Given the description of an element on the screen output the (x, y) to click on. 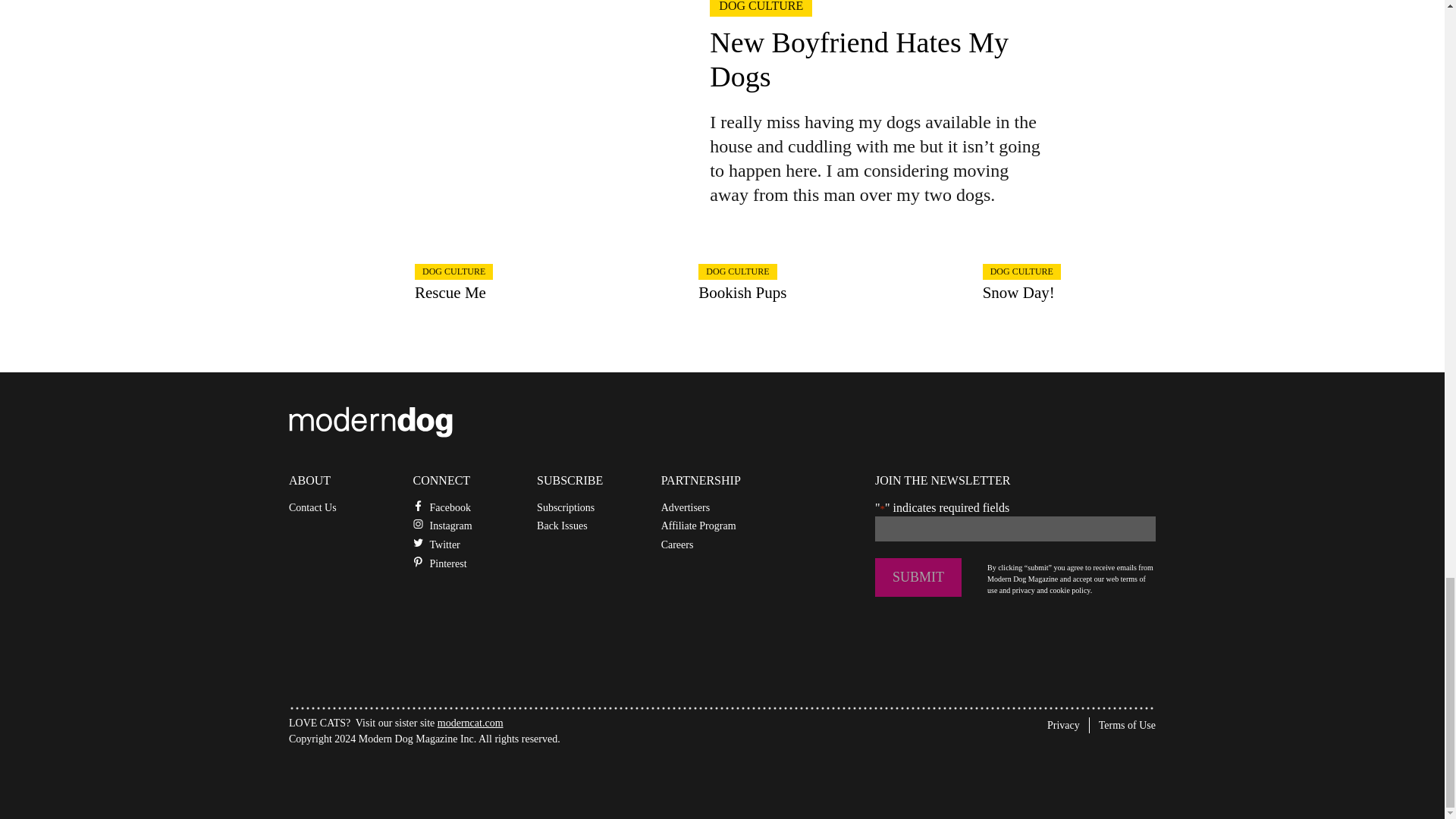
Submit (917, 577)
Funded by the Government of Canada (402, 776)
